Given the description of an element on the screen output the (x, y) to click on. 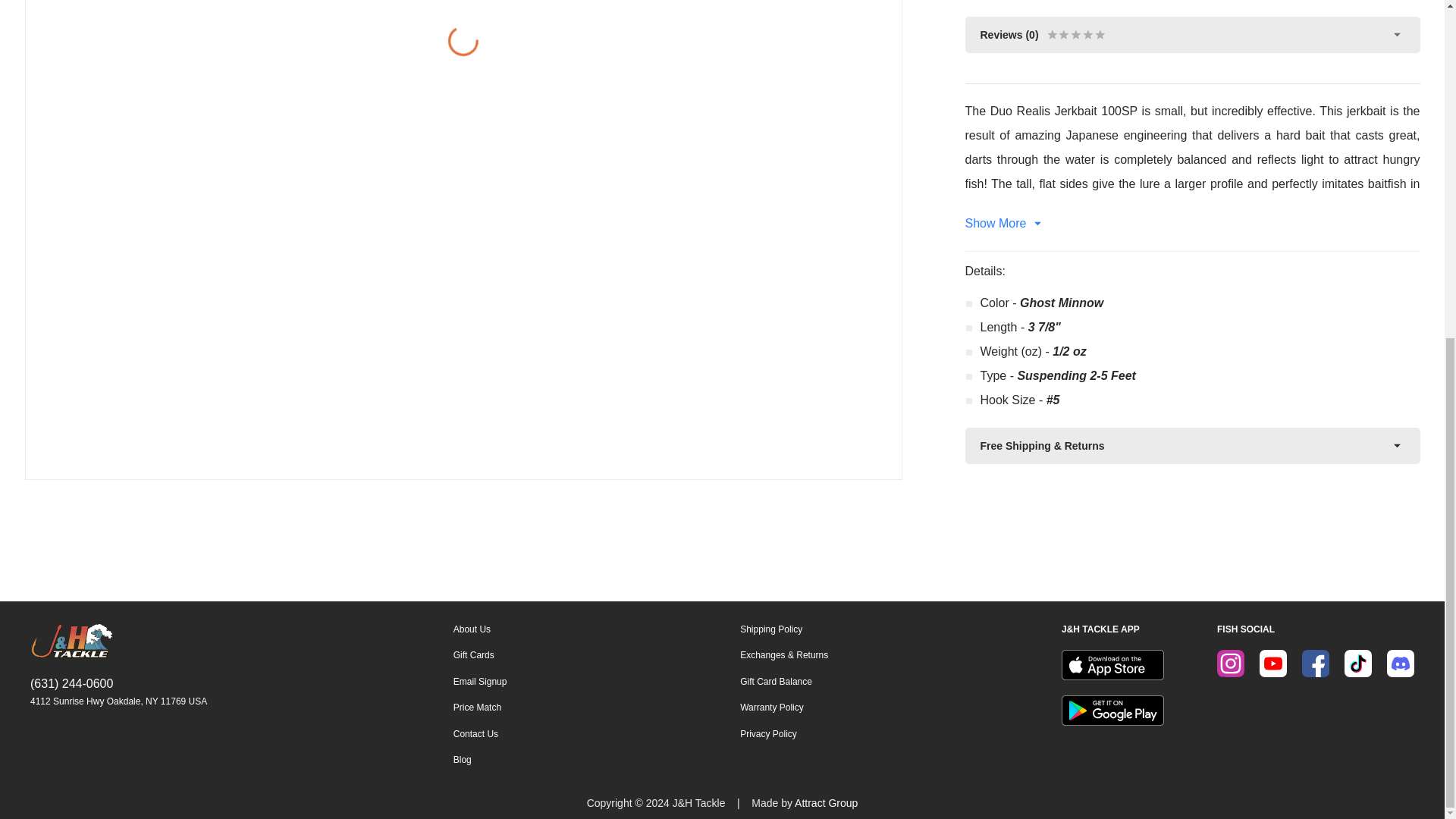
Price Match (479, 706)
Attract Group (825, 802)
Gift Cards (479, 655)
Warranty Policy (783, 706)
Blog (479, 759)
About Us (479, 629)
Shipping Policy (783, 629)
Gift Card Balance (783, 681)
Privacy Policy (783, 733)
Show More (1191, 223)
